Given the description of an element on the screen output the (x, y) to click on. 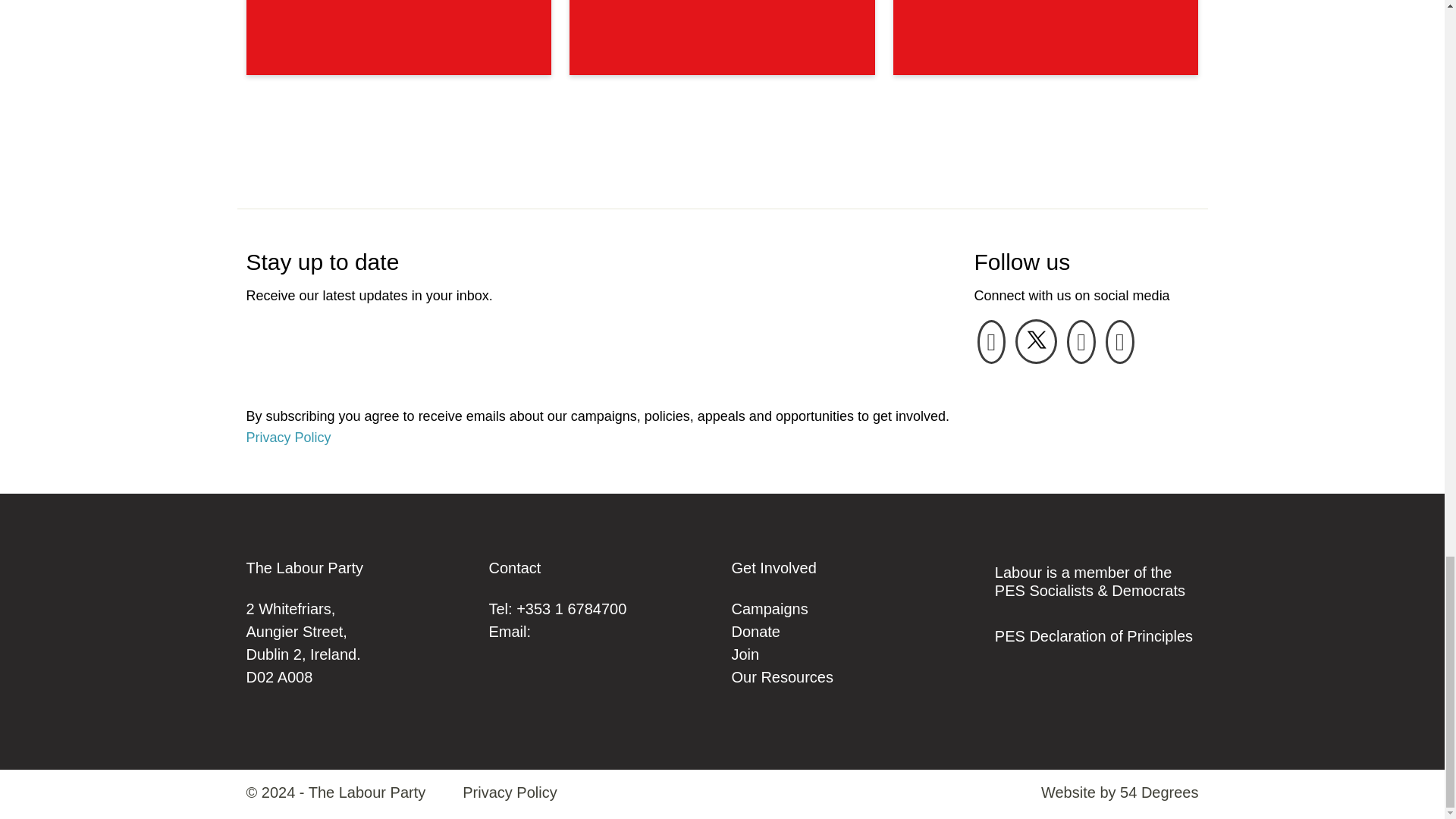
Our Resources (781, 677)
Privacy Policy (288, 437)
Campaigns (769, 608)
Privacy Policy (509, 791)
Join (744, 654)
PES Declaration of Principles (1093, 636)
Donate (755, 631)
54 Degrees (1158, 791)
